Given the description of an element on the screen output the (x, y) to click on. 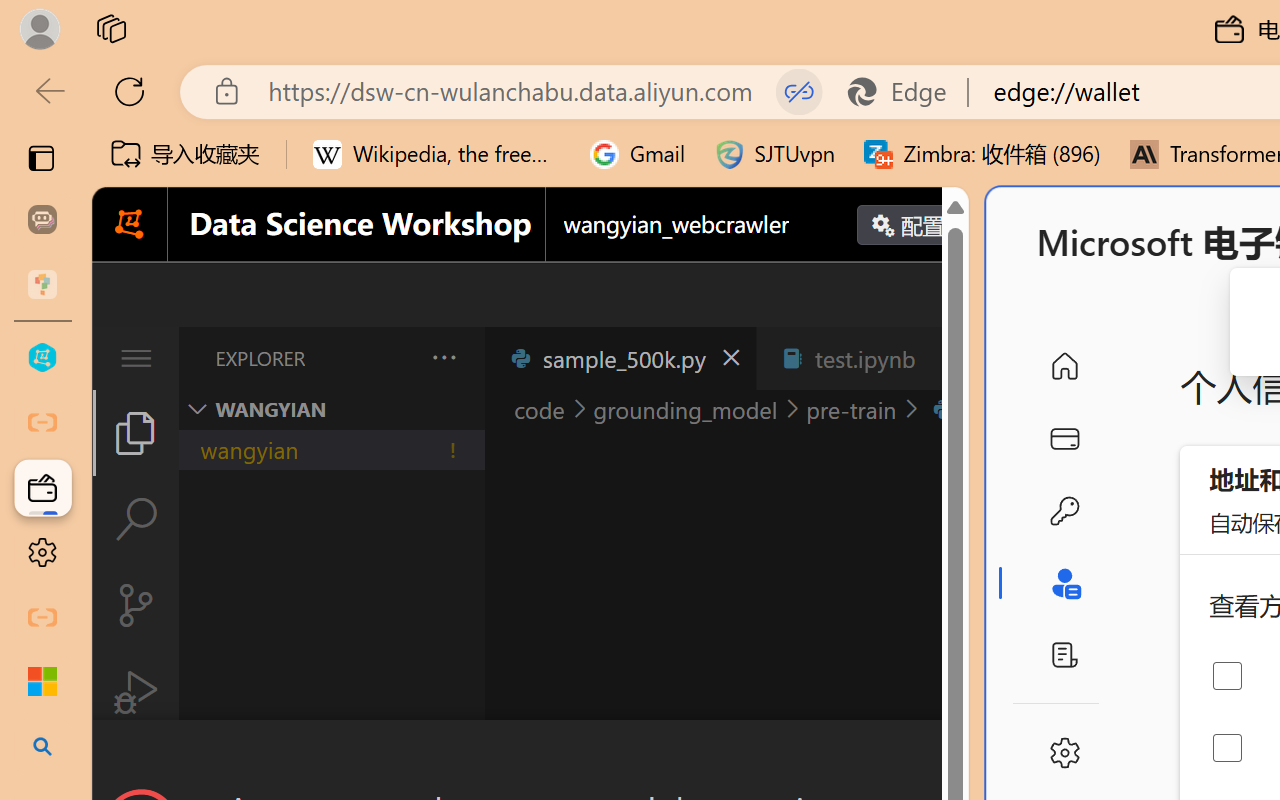
Source Control (Ctrl+Shift+G) (135, 604)
Explorer actions (391, 358)
Explorer (Ctrl+Shift+E) (135, 432)
